Given the description of an element on the screen output the (x, y) to click on. 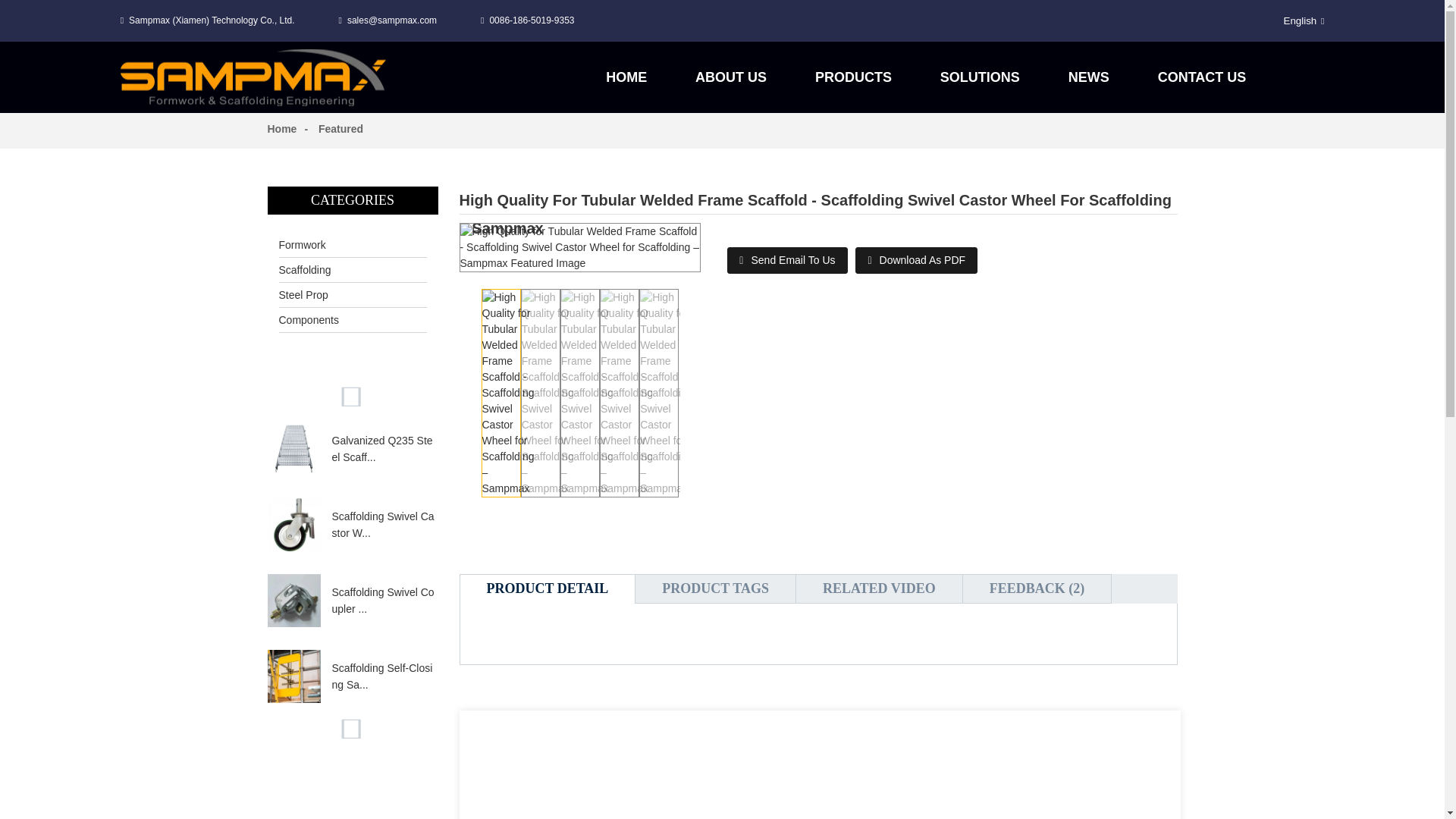
PRODUCTS (853, 76)
SOLUTIONS (980, 76)
NEWS (1088, 76)
Steel Prop (352, 294)
Scaffolding Swivel Coupler ... (384, 600)
Scaffolding Self-Closing Sa... (384, 676)
Featured (340, 128)
Home (281, 128)
Featured (340, 128)
ABOUT US (731, 76)
CONTACT US (1201, 76)
Scaffolding (352, 269)
Components (352, 319)
HOME (625, 76)
Scaffolding Swivel Castor W... (384, 524)
